Given the description of an element on the screen output the (x, y) to click on. 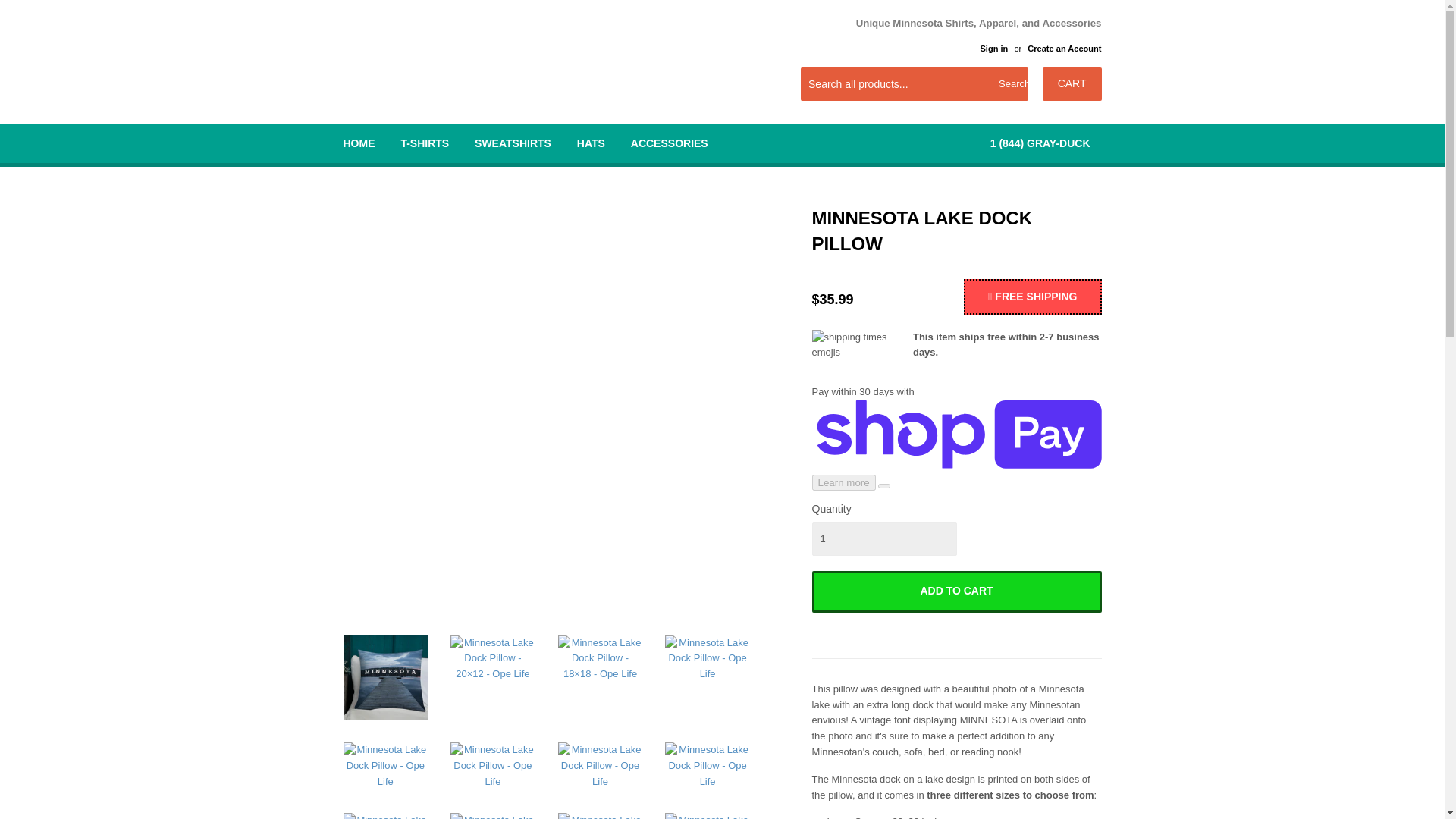
CART (1072, 83)
HATS (590, 142)
T-SHIRTS (424, 142)
Search (1010, 84)
HOME (359, 142)
ACCESSORIES (669, 142)
1 (883, 539)
Sign in (993, 48)
SWEATSHIRTS (512, 142)
Create an Account (1063, 48)
